Given the description of an element on the screen output the (x, y) to click on. 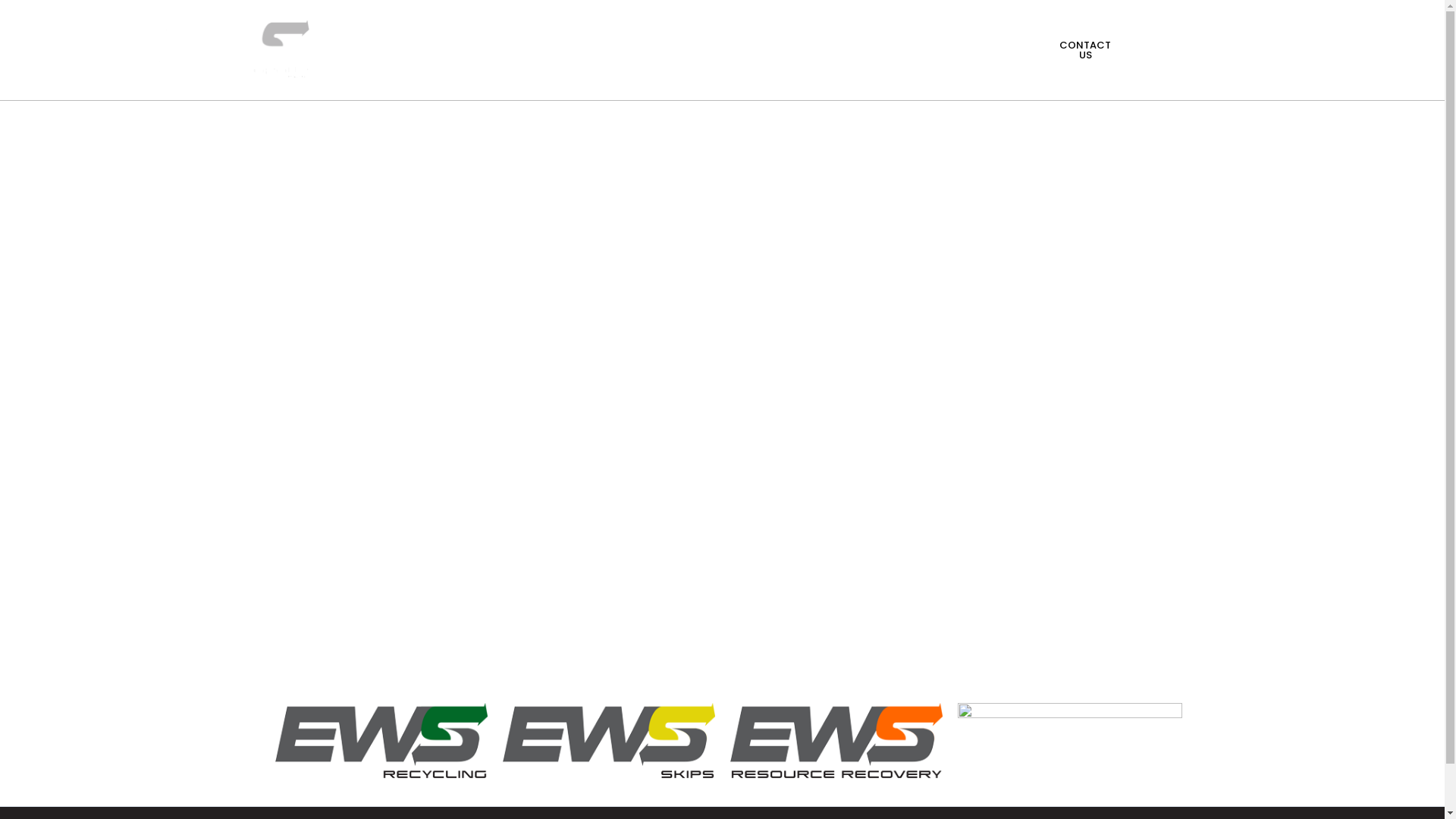
CONTACT US Element type: text (1084, 49)
1800 60 61 61 Element type: text (974, 49)
info@ewsgroup.com.au Element type: text (1207, 49)
HOME Element type: text (403, 32)
EWS RECYCLING Element type: text (496, 32)
EWS SKIP BINS Element type: text (797, 32)
EWS TRANSPORT Element type: text (614, 67)
EWS RESOURCE RECOVERY Element type: text (649, 32)
